Given the description of an element on the screen output the (x, y) to click on. 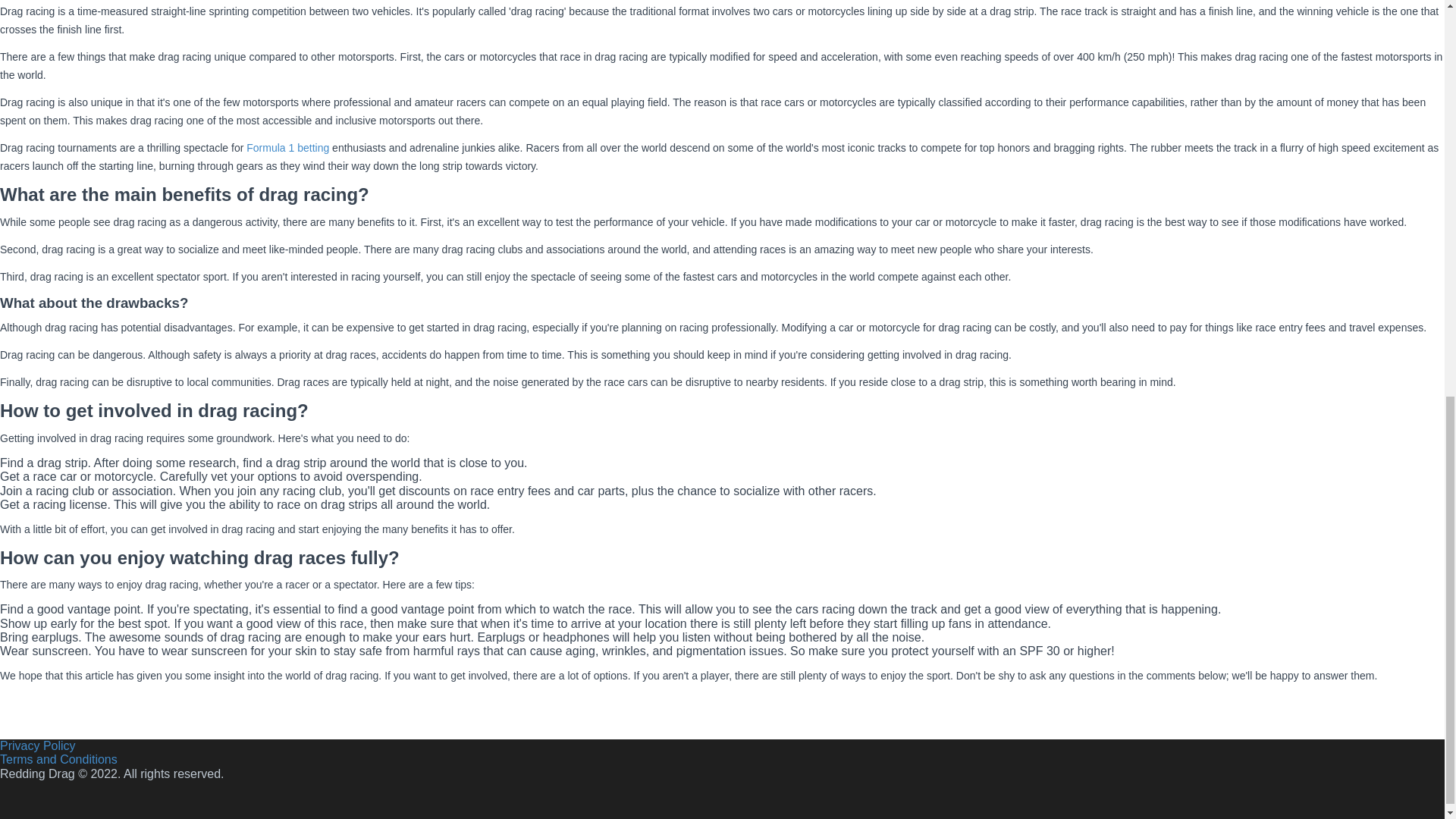
Terms and Conditions (58, 758)
Privacy Policy (37, 745)
Formula 1 betting (287, 147)
